Given the description of an element on the screen output the (x, y) to click on. 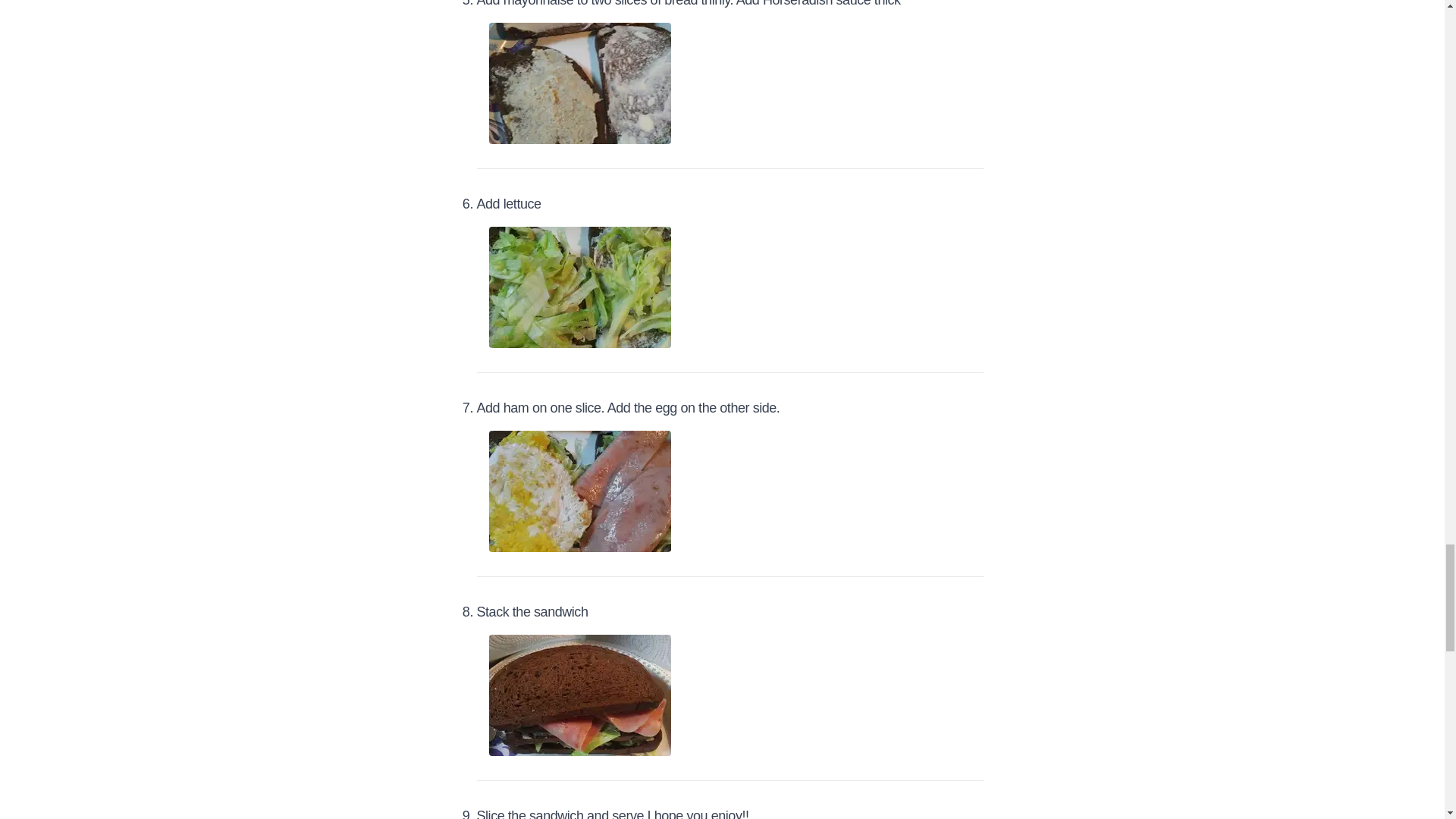
How to make Ham And Eggs On Rye Pumpernickel Bread (578, 287)
How to make Ham And Eggs On Rye Pumpernickel Bread (578, 694)
How to make Ham And Eggs On Rye Pumpernickel Bread (578, 491)
How to make Ham And Eggs On Rye Pumpernickel Bread (578, 83)
